Given the description of an element on the screen output the (x, y) to click on. 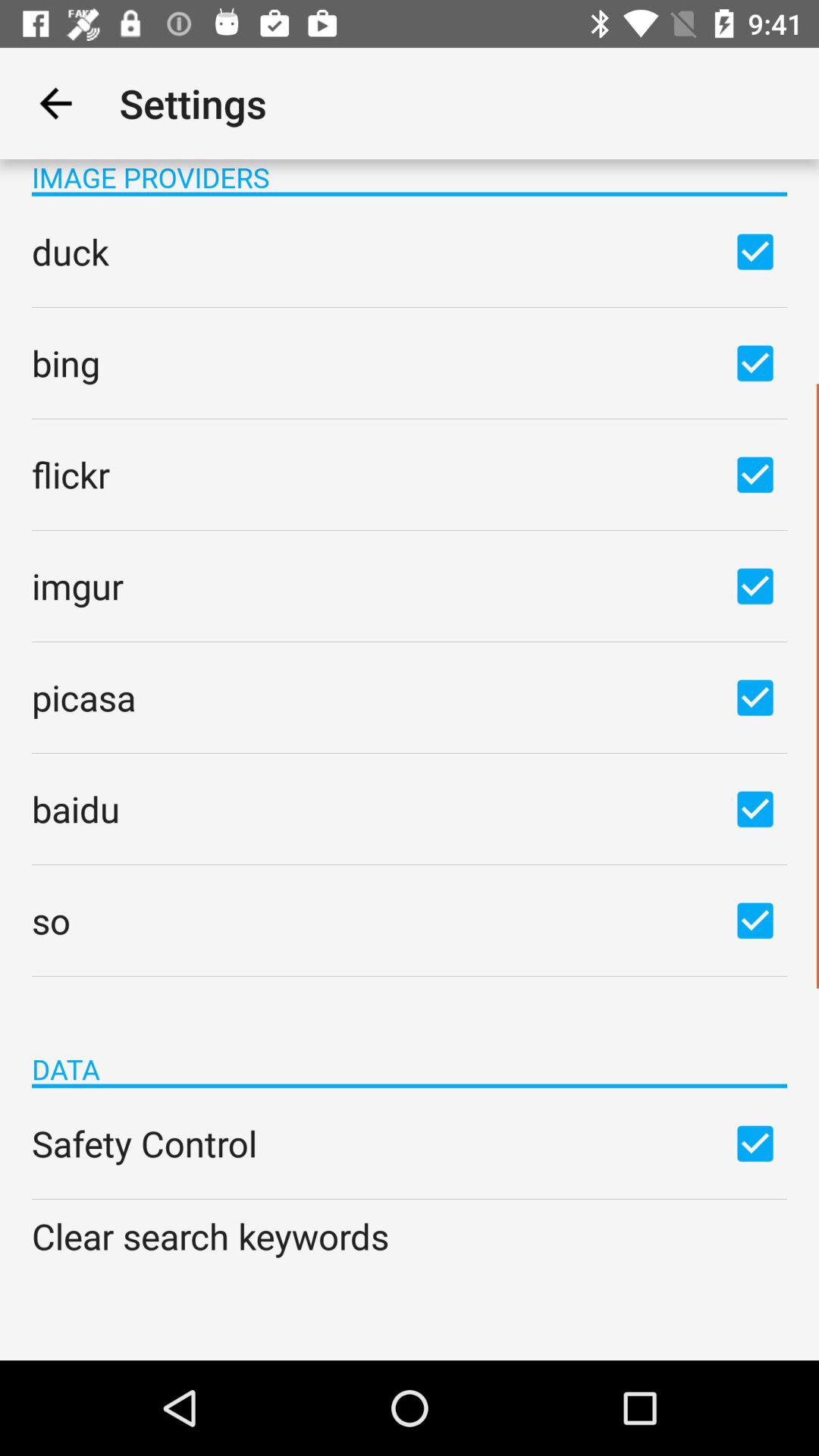
select/unselect option (755, 808)
